Given the description of an element on the screen output the (x, y) to click on. 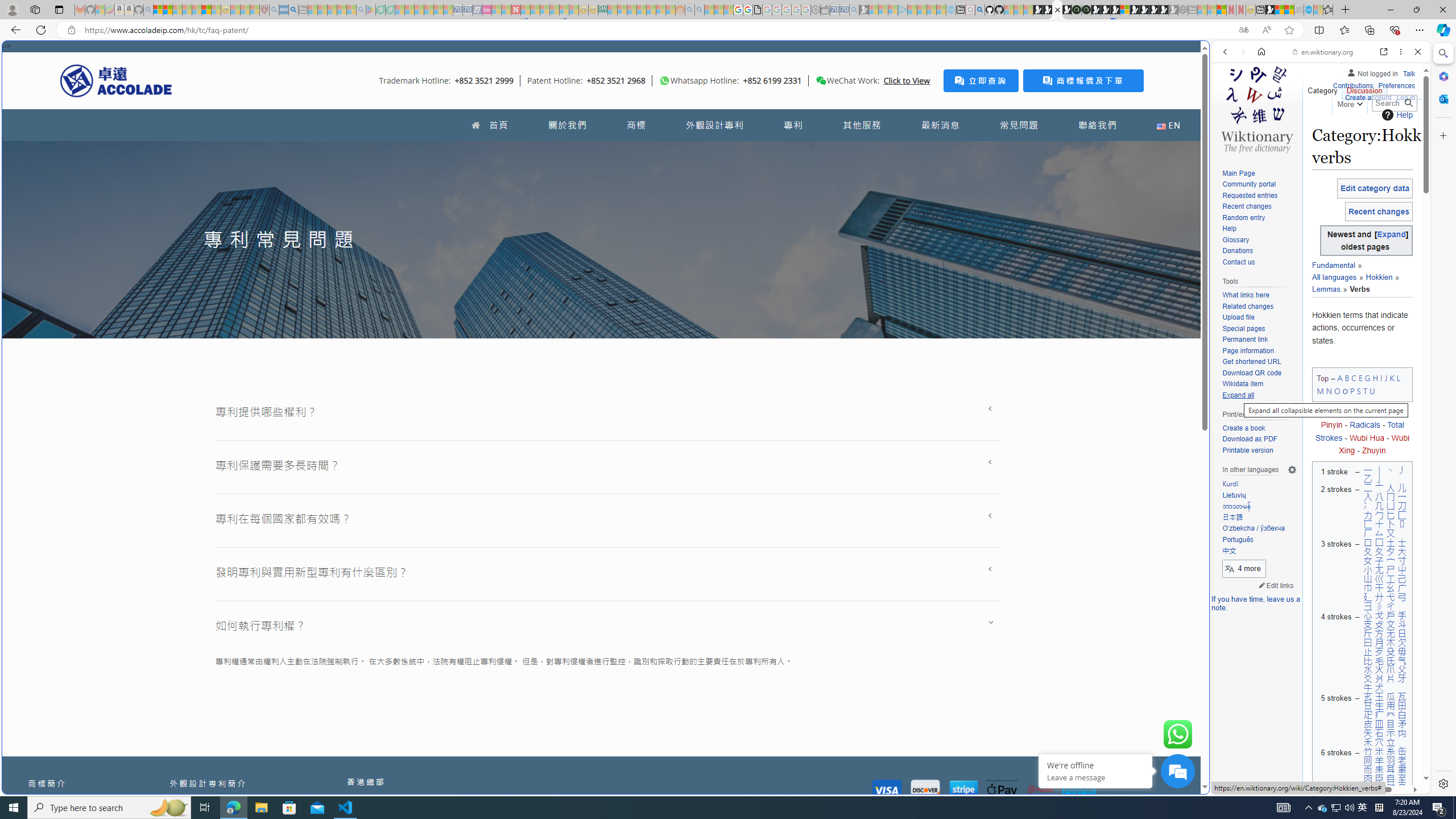
T (1364, 390)
